Given the description of an element on the screen output the (x, y) to click on. 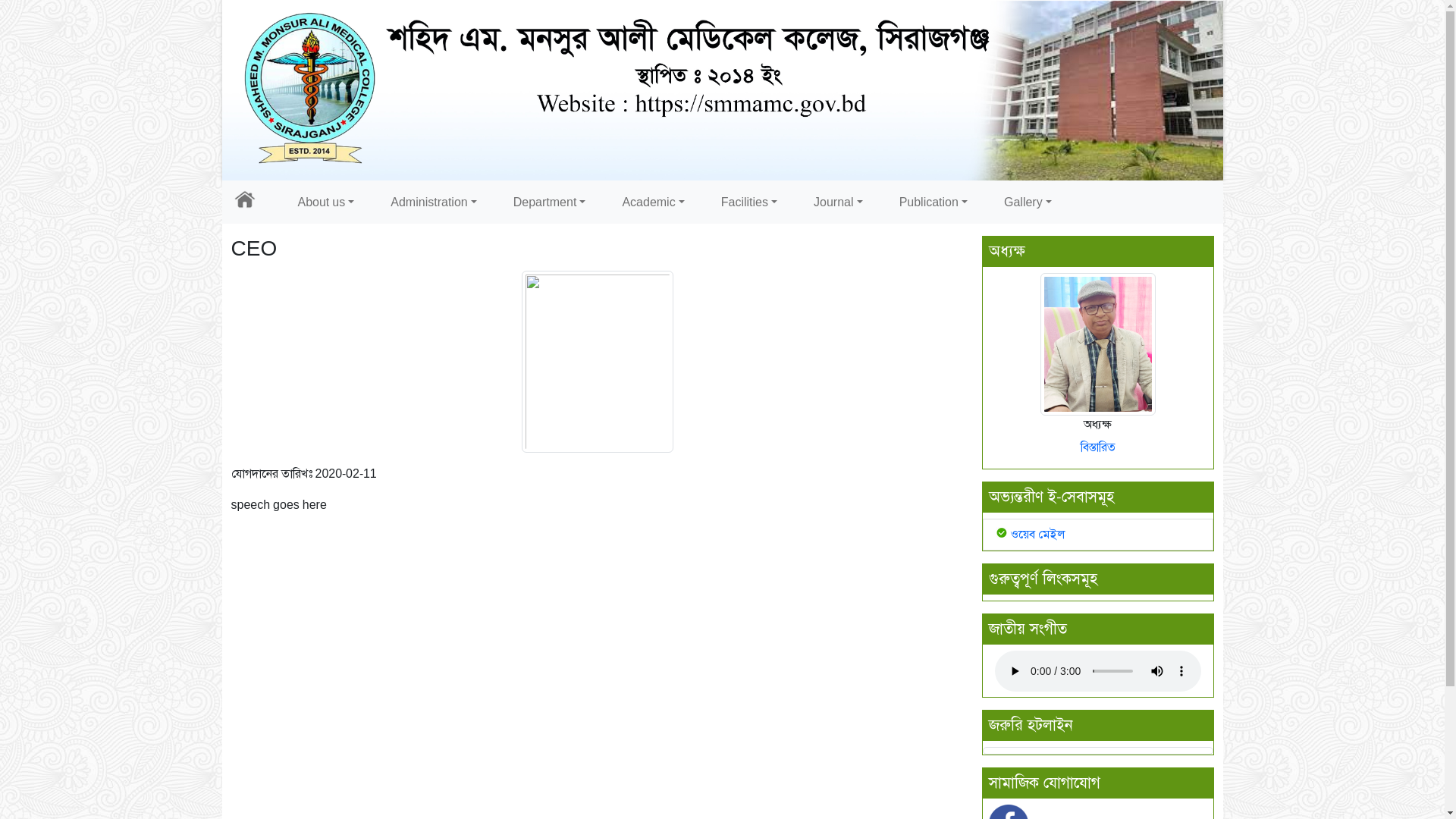
Publication Element type: text (933, 202)
Gallery Element type: text (1027, 202)
About us Element type: text (325, 202)
Start Element type: text (716, 198)
Administration Element type: text (433, 202)
Department Element type: text (549, 202)
Facilities Element type: text (749, 202)
Journal Element type: text (838, 202)
Academic Element type: text (652, 202)
Stop Element type: text (727, 198)
